Given the description of an element on the screen output the (x, y) to click on. 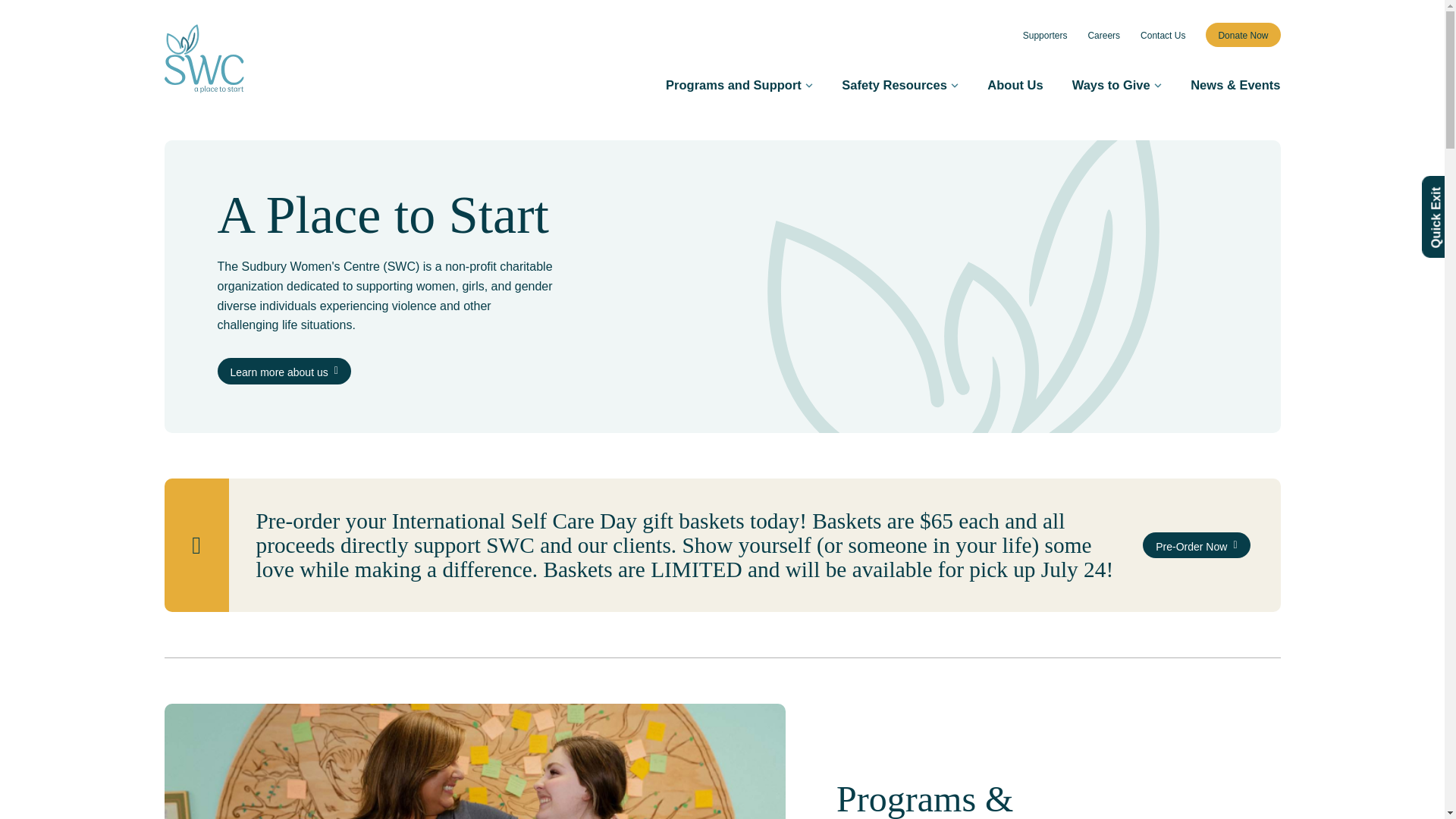
Programs and Support (738, 84)
About Us (1014, 84)
Learn more about us (283, 370)
Contact Us (1162, 35)
Ways to Give (1116, 84)
Careers (1103, 35)
Safety Resources (899, 84)
Donate Now (1242, 35)
Supporters (1045, 35)
